Given the description of an element on the screen output the (x, y) to click on. 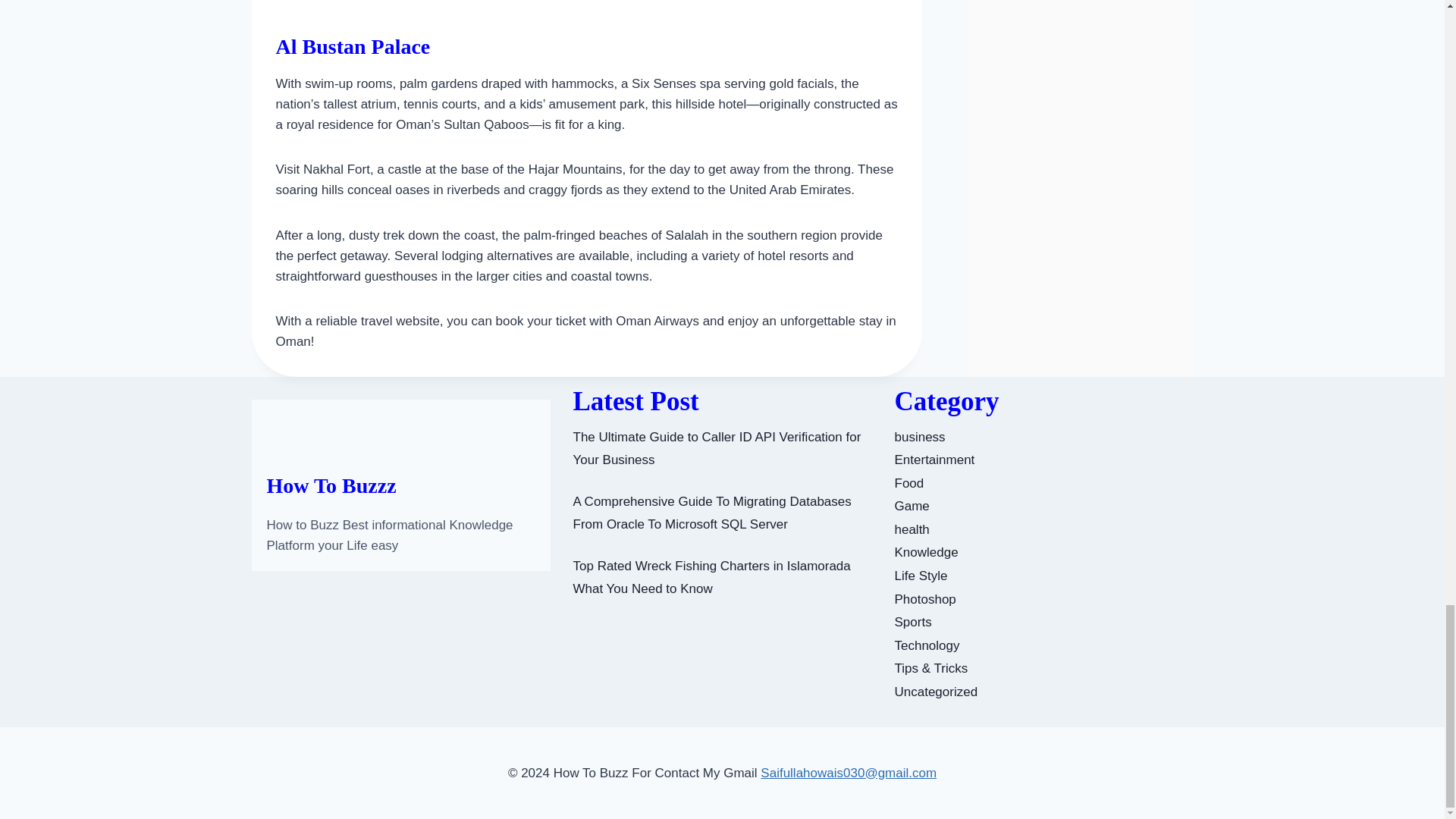
Entertainment (935, 459)
Food (909, 482)
Knowledge (926, 552)
Sports (913, 622)
Game (912, 505)
Life Style (921, 575)
business (919, 436)
